Given the description of an element on the screen output the (x, y) to click on. 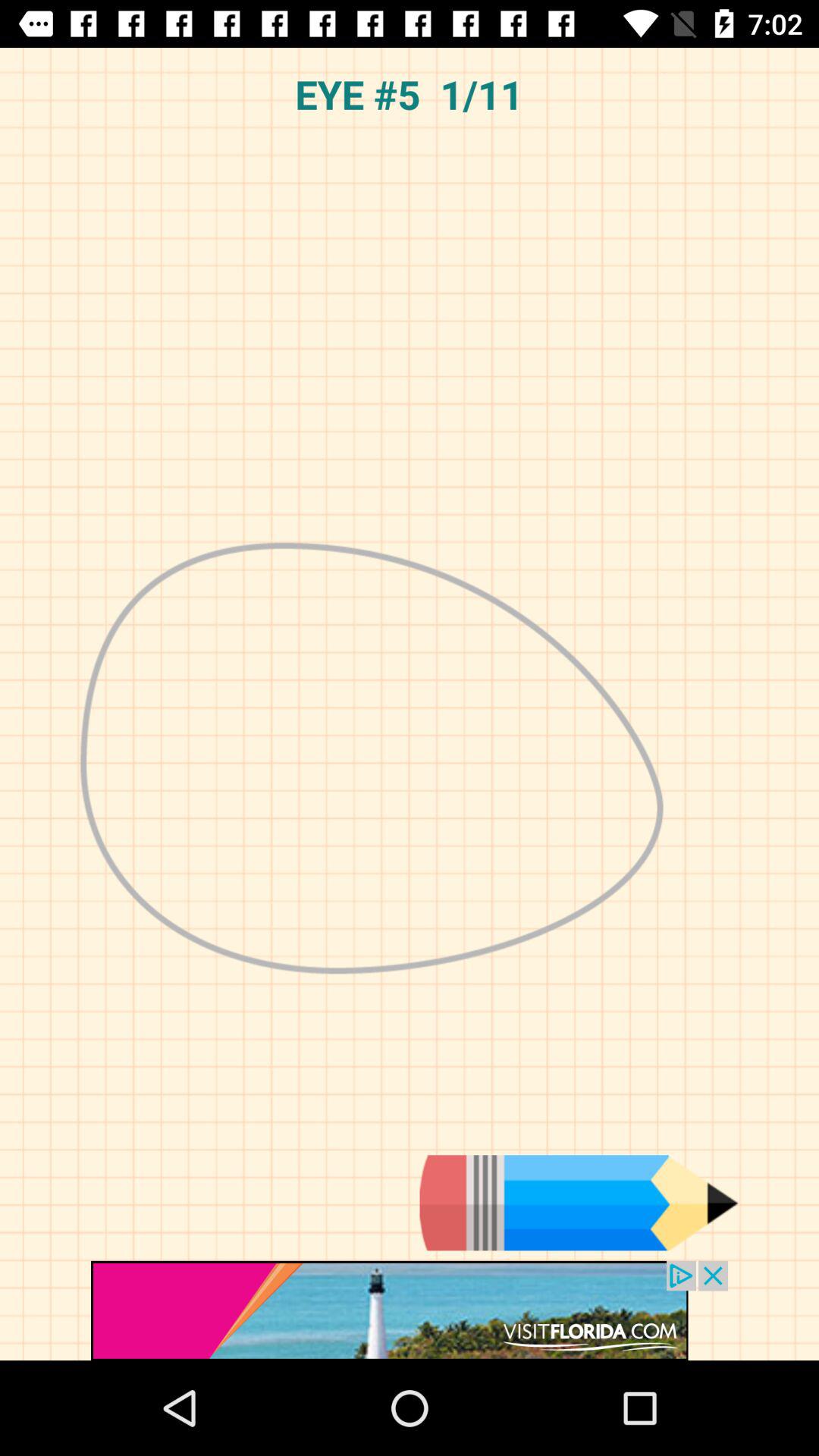
edit (578, 1202)
